Given the description of an element on the screen output the (x, y) to click on. 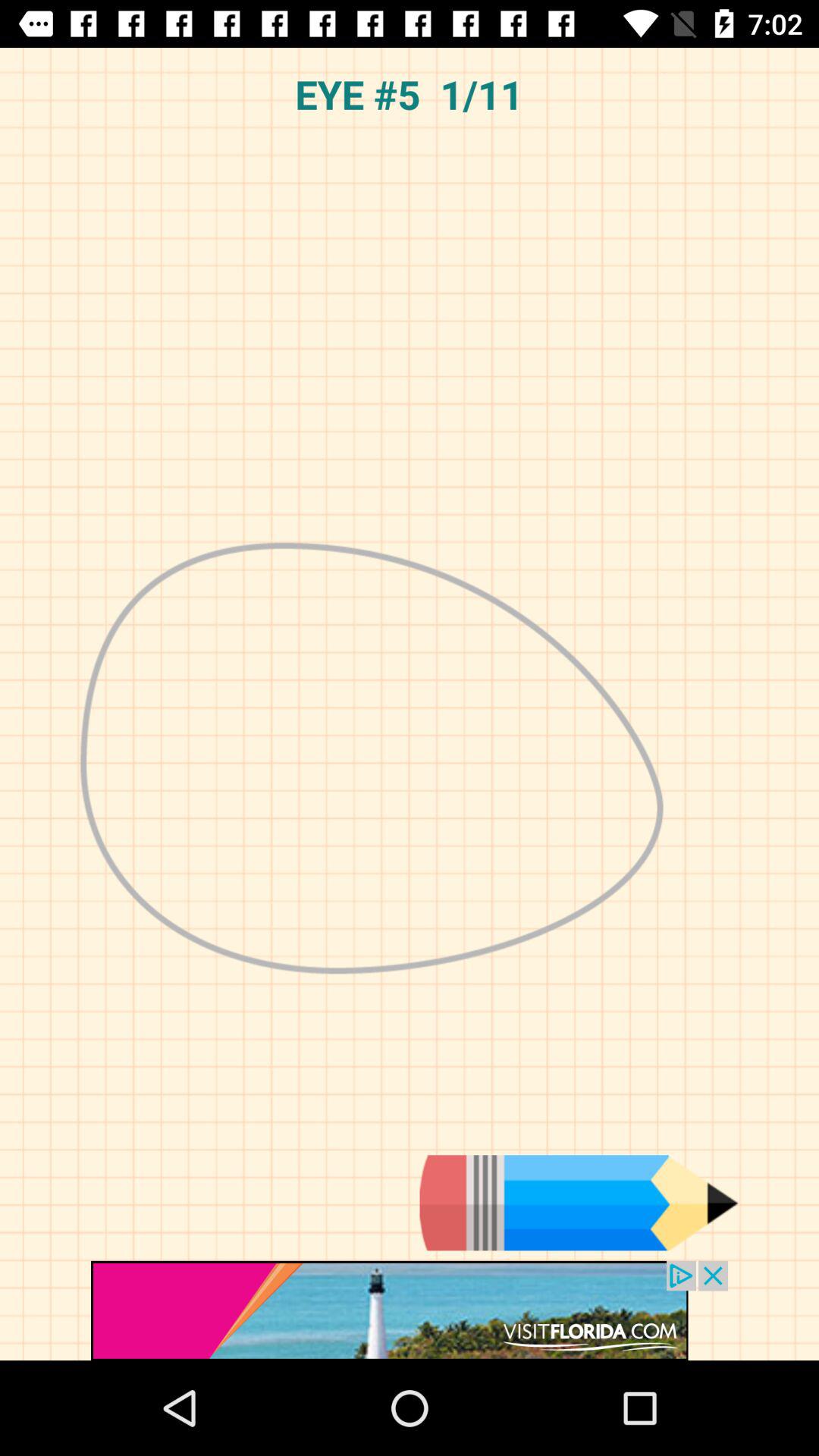
edit (578, 1202)
